Given the description of an element on the screen output the (x, y) to click on. 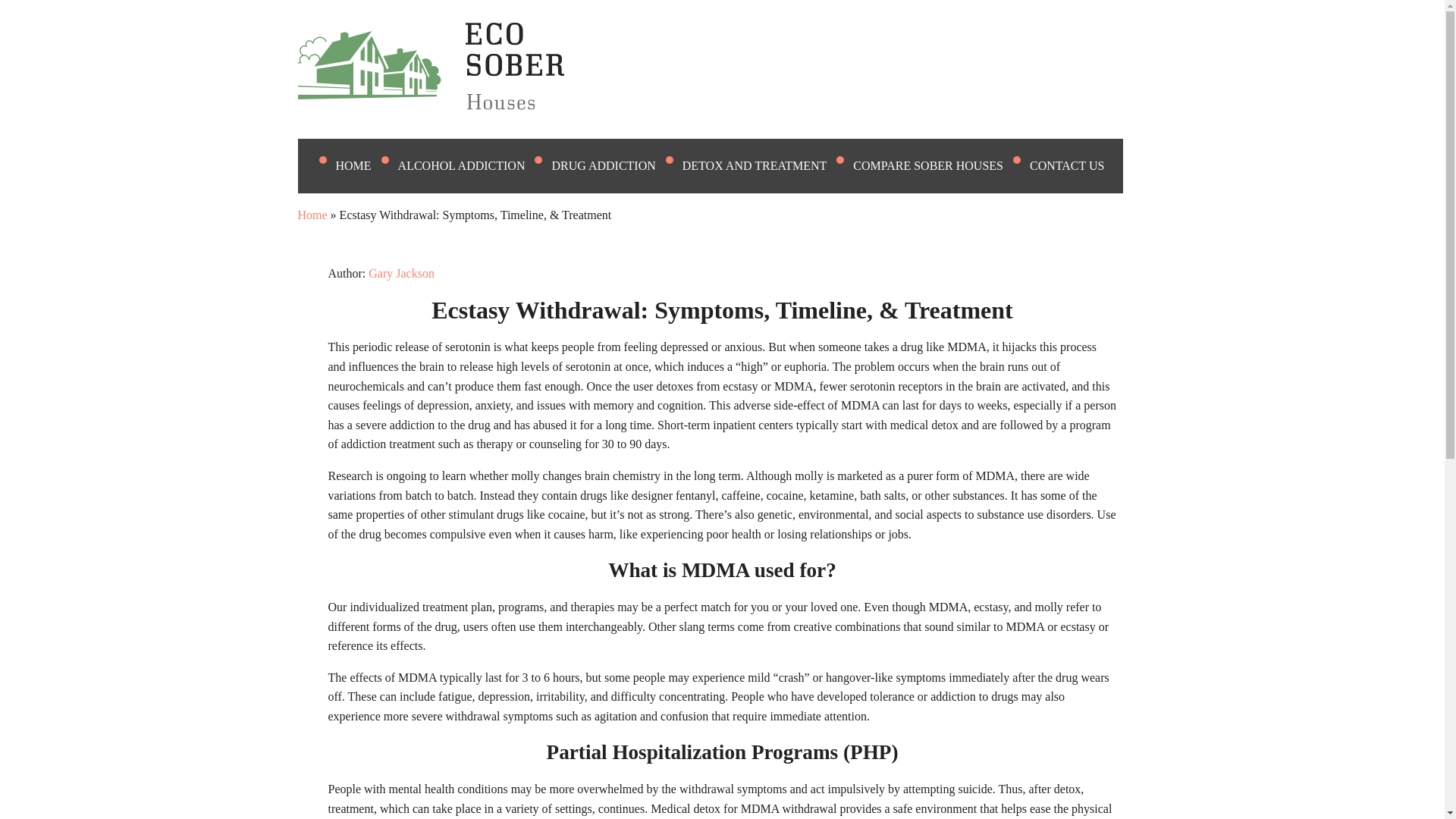
ALCOHOL ADDICTION (470, 164)
Home (311, 214)
DRUG ADDICTION (612, 164)
Gary Jackson (400, 273)
COMPARE SOBER HOUSES (937, 164)
CONTACT US (1075, 164)
DETOX AND TREATMENT (763, 164)
HOME (362, 164)
